Given the description of an element on the screen output the (x, y) to click on. 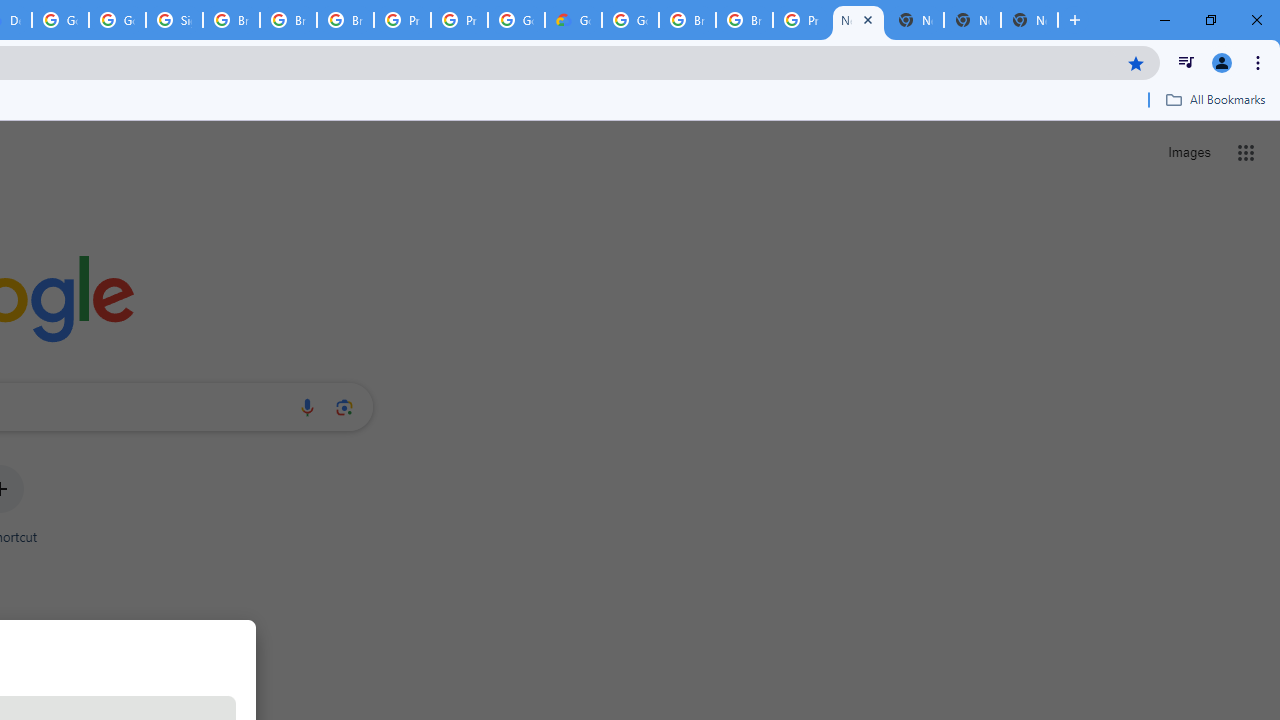
Sign in - Google Accounts (174, 20)
New Tab (1029, 20)
All Bookmarks (1215, 99)
Control your music, videos, and more (1185, 62)
Browse Chrome as a guest - Computer - Google Chrome Help (744, 20)
Browse Chrome as a guest - Computer - Google Chrome Help (345, 20)
